Given the description of an element on the screen output the (x, y) to click on. 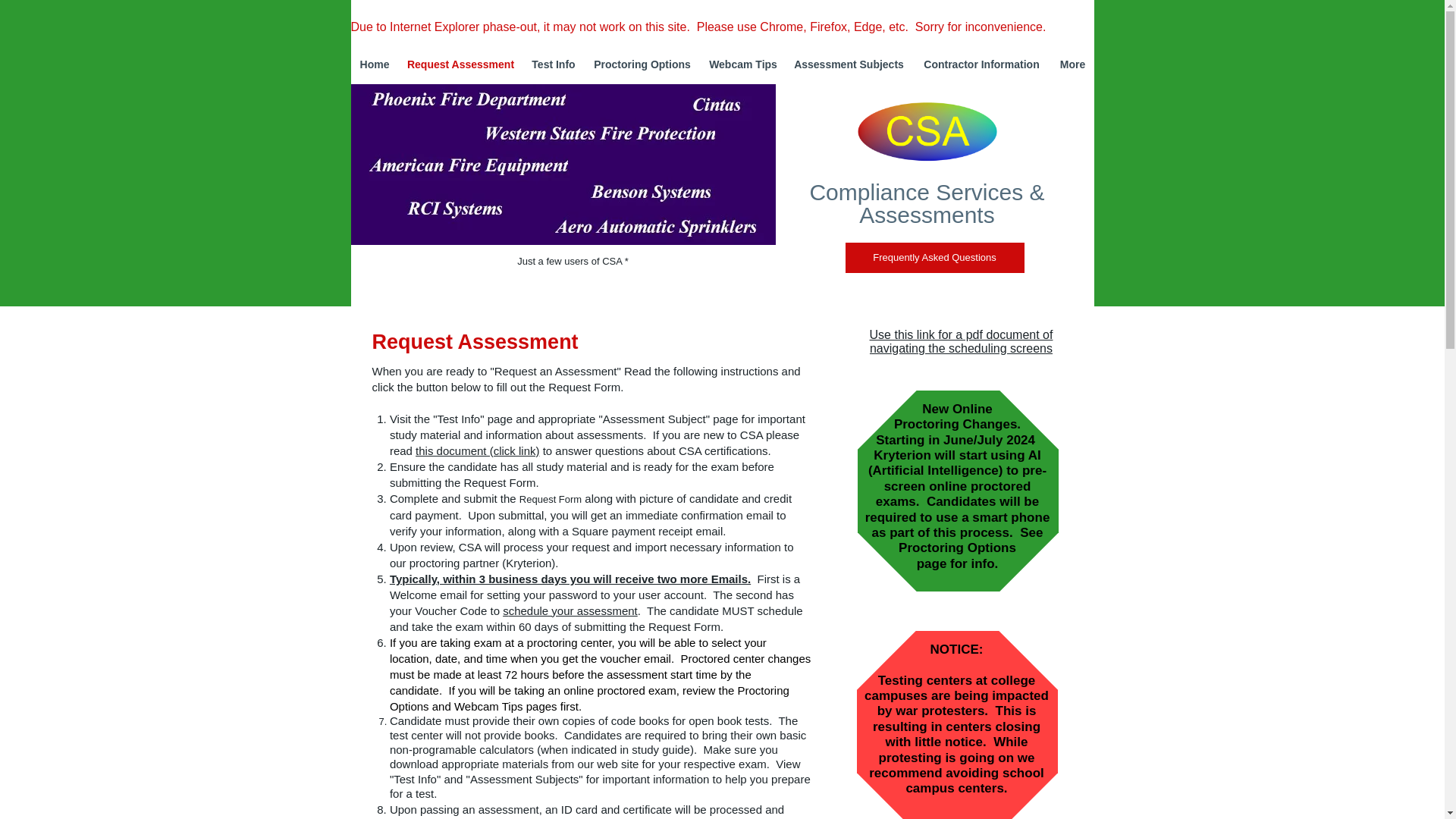
schedule your assessment (569, 610)
Contractor Information (981, 64)
Frequently Asked Questions (933, 257)
Proctoring Options (641, 64)
Webcam Tips (743, 64)
Request Assessment (460, 64)
Assessment Subjects (848, 64)
Home (373, 64)
Test Info (553, 64)
